Given the description of an element on the screen output the (x, y) to click on. 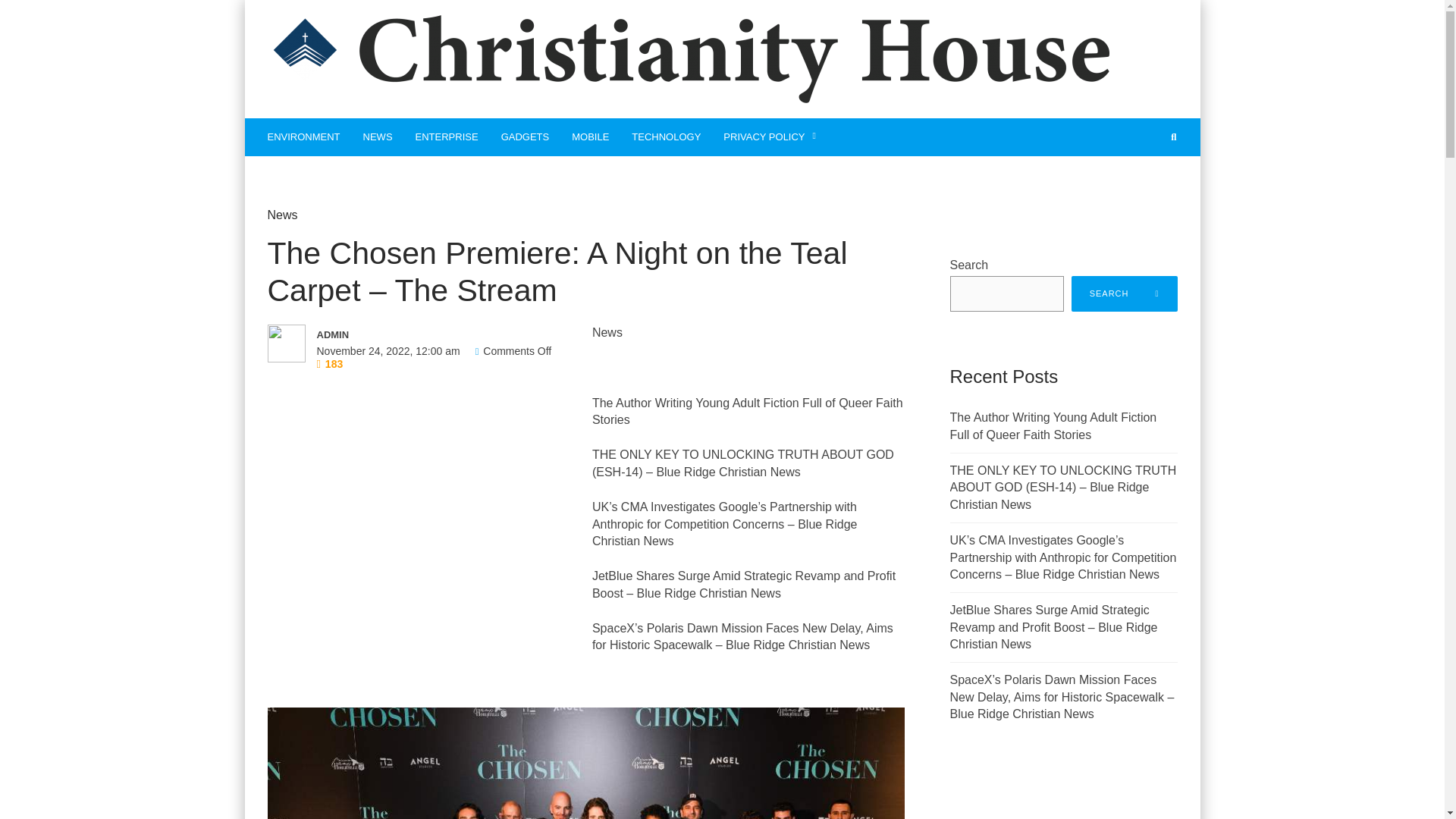
ENTERPRISE (446, 136)
Views (330, 363)
TECHNOLOGY (665, 136)
NEWS (378, 136)
PRIVACY POLICY (770, 136)
News (281, 214)
News (607, 332)
View all posts by admin (422, 334)
ENVIRONMENT (304, 136)
ADMIN (422, 334)
SEARCH (1124, 294)
MOBILE (590, 136)
GADGETS (524, 136)
